Given the description of an element on the screen output the (x, y) to click on. 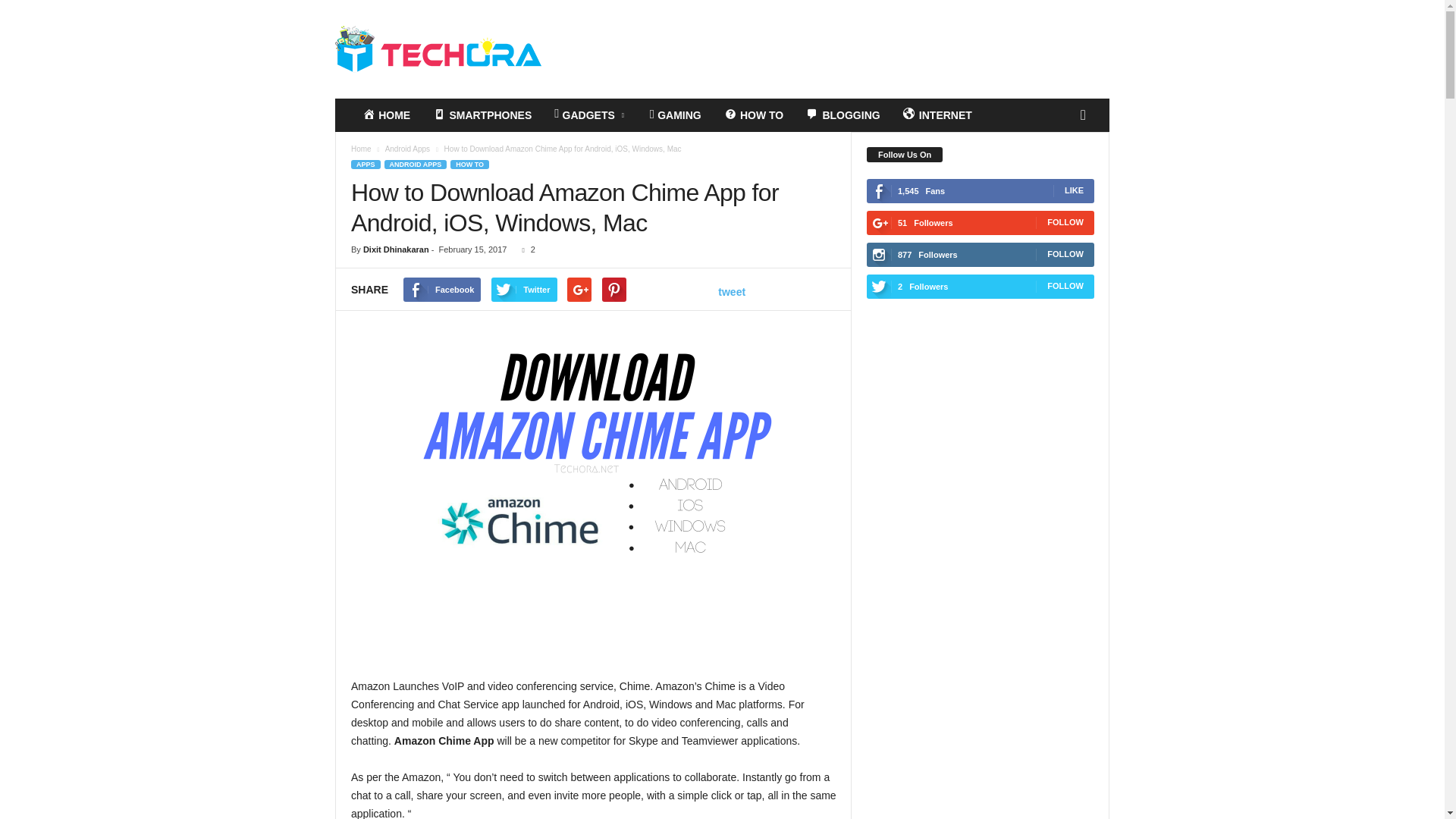
HOW TO (469, 163)
INTERNET (937, 114)
Android Apps (408, 148)
Advertisement (833, 49)
Home (361, 148)
GADGETS (591, 114)
BLOGGING (842, 114)
Advertisement (593, 637)
APPS (365, 163)
HOW TO (753, 114)
Techora (437, 48)
ANDROID APPS (415, 163)
HOME (386, 114)
Download Amazon Chime for Mac, Android, Windows, iOS (592, 461)
GAMING (676, 114)
